Given the description of an element on the screen output the (x, y) to click on. 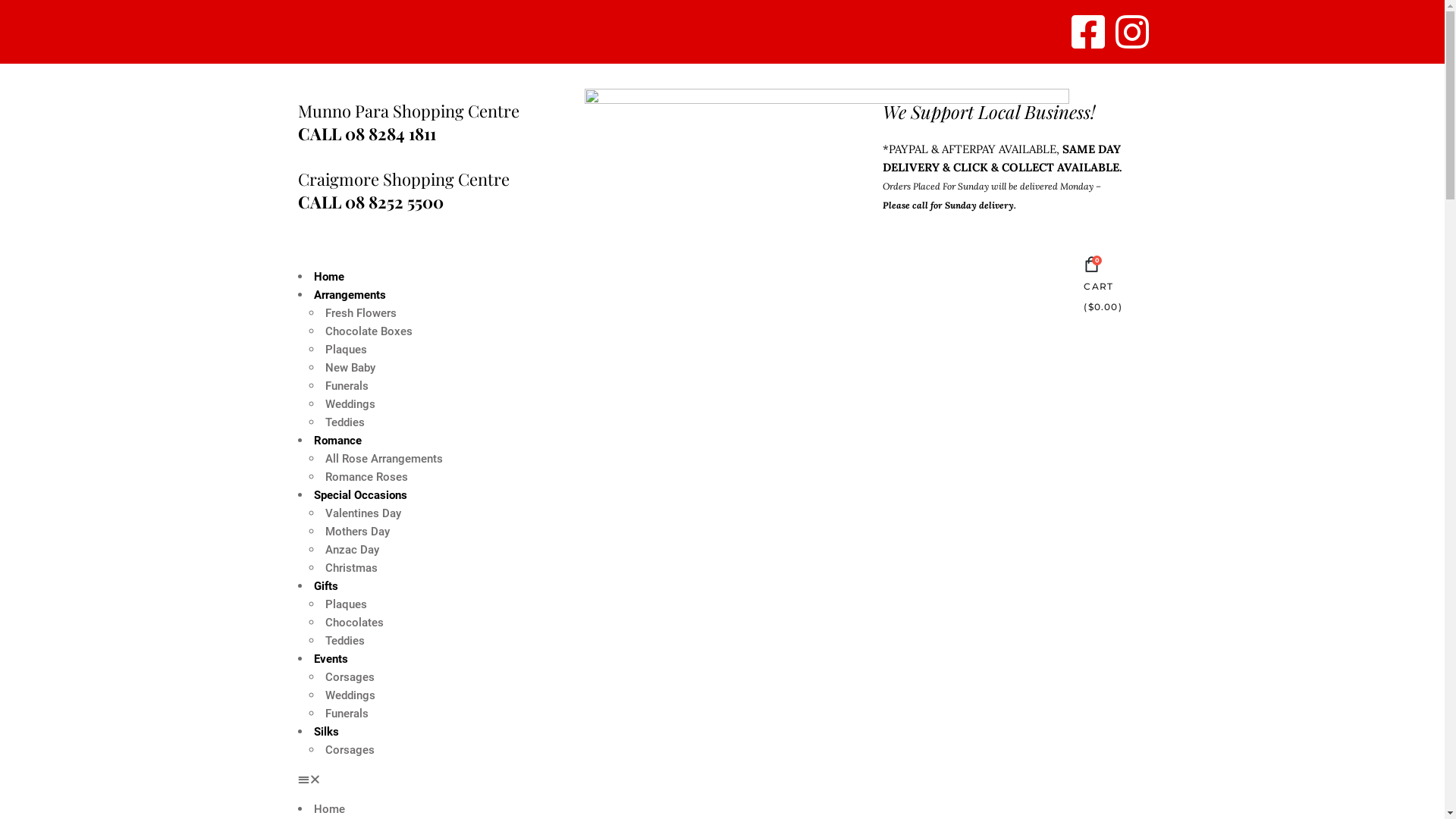
Gifts Element type: text (325, 586)
New Baby Element type: text (349, 367)
Romance Roses Element type: text (365, 476)
08 8252 5500 Element type: text (393, 201)
Corsages Element type: text (348, 749)
Silks Element type: text (325, 731)
Anzac Day Element type: text (351, 549)
Plaques Element type: text (345, 349)
Home Element type: text (328, 276)
Corsages Element type: text (348, 677)
Fresh Flowers Element type: text (359, 313)
Plaques Element type: text (345, 604)
Weddings Element type: text (349, 404)
All Rose Arrangements Element type: text (383, 458)
Romance Element type: text (337, 440)
Funerals Element type: text (345, 385)
Teddies Element type: text (344, 640)
0
CART ($0.00) Element type: text (1107, 286)
Weddings Element type: text (349, 695)
Mothers Day Element type: text (356, 531)
Events Element type: text (330, 658)
Arrangements Element type: text (349, 294)
Special Occasions Element type: text (360, 495)
Valentines Day Element type: text (362, 513)
Funerals Element type: text (345, 713)
08 8284 1811 Element type: text (389, 133)
Chocolate Boxes Element type: text (367, 331)
Teddies Element type: text (344, 422)
Christmas Element type: text (350, 567)
Home Element type: text (329, 808)
Chocolates Element type: text (353, 622)
